Given the description of an element on the screen output the (x, y) to click on. 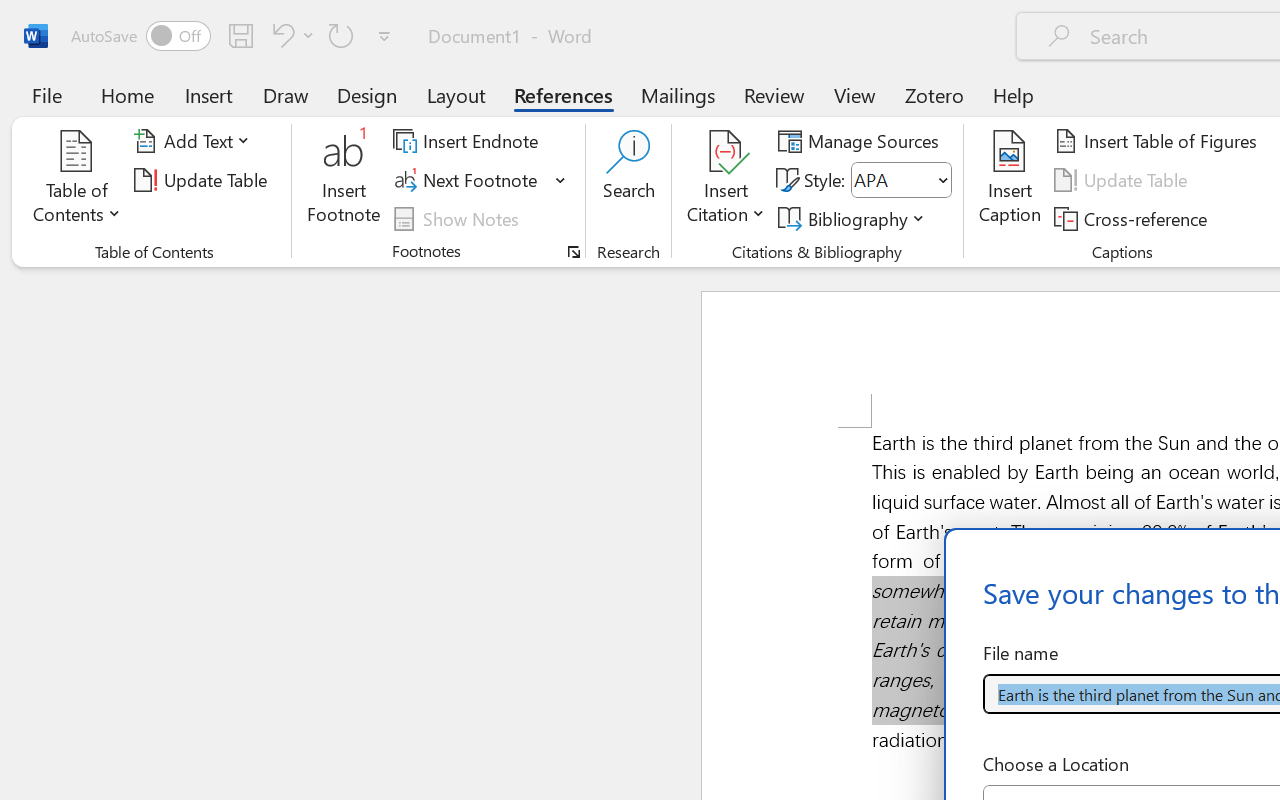
Show Notes (459, 218)
Cross-reference... (1133, 218)
Insert Citation (726, 179)
Style (901, 179)
Undo Italic (290, 35)
Open (942, 179)
Help (1013, 94)
